Given the description of an element on the screen output the (x, y) to click on. 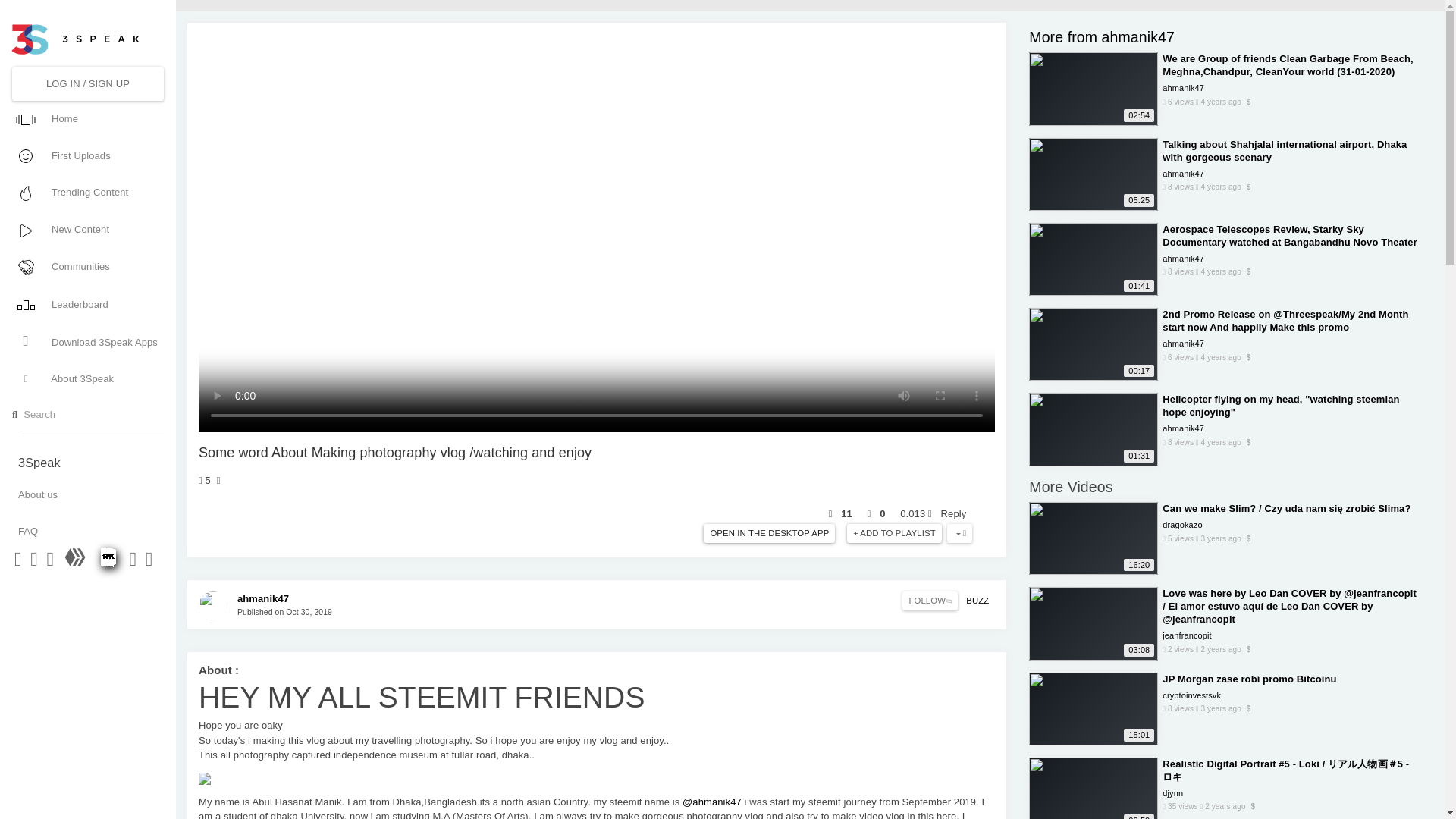
New Content (85, 229)
FOLLOW (929, 600)
Download 3Speak Apps (85, 341)
SPK Network (109, 562)
Payout value (915, 513)
BUZZ (977, 600)
About 3Speak (85, 379)
Visit Our Blog (76, 562)
Download 3Speak Apps (85, 341)
About 3Speak (85, 379)
About us (87, 494)
Leaderboard (85, 303)
Home (85, 118)
